Given the description of an element on the screen output the (x, y) to click on. 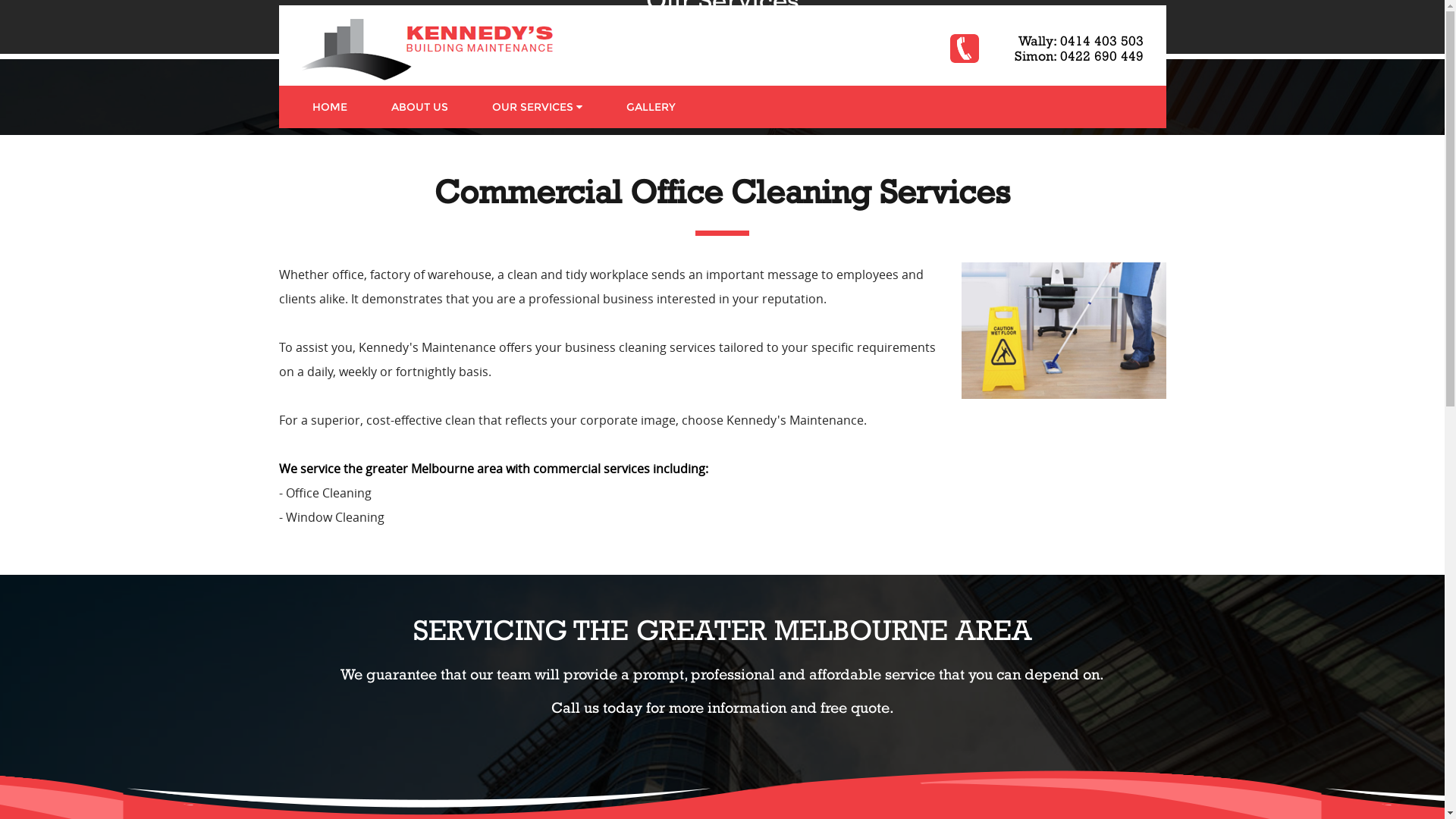
HOME Element type: text (328, 106)
GALLERY Element type: text (649, 106)
Kennedys Building Maintenance Element type: hover (427, 47)
OUR SERVICES Element type: text (537, 106)
ABOUT US Element type: text (418, 106)
Home Element type: text (589, 31)
